Given the description of an element on the screen output the (x, y) to click on. 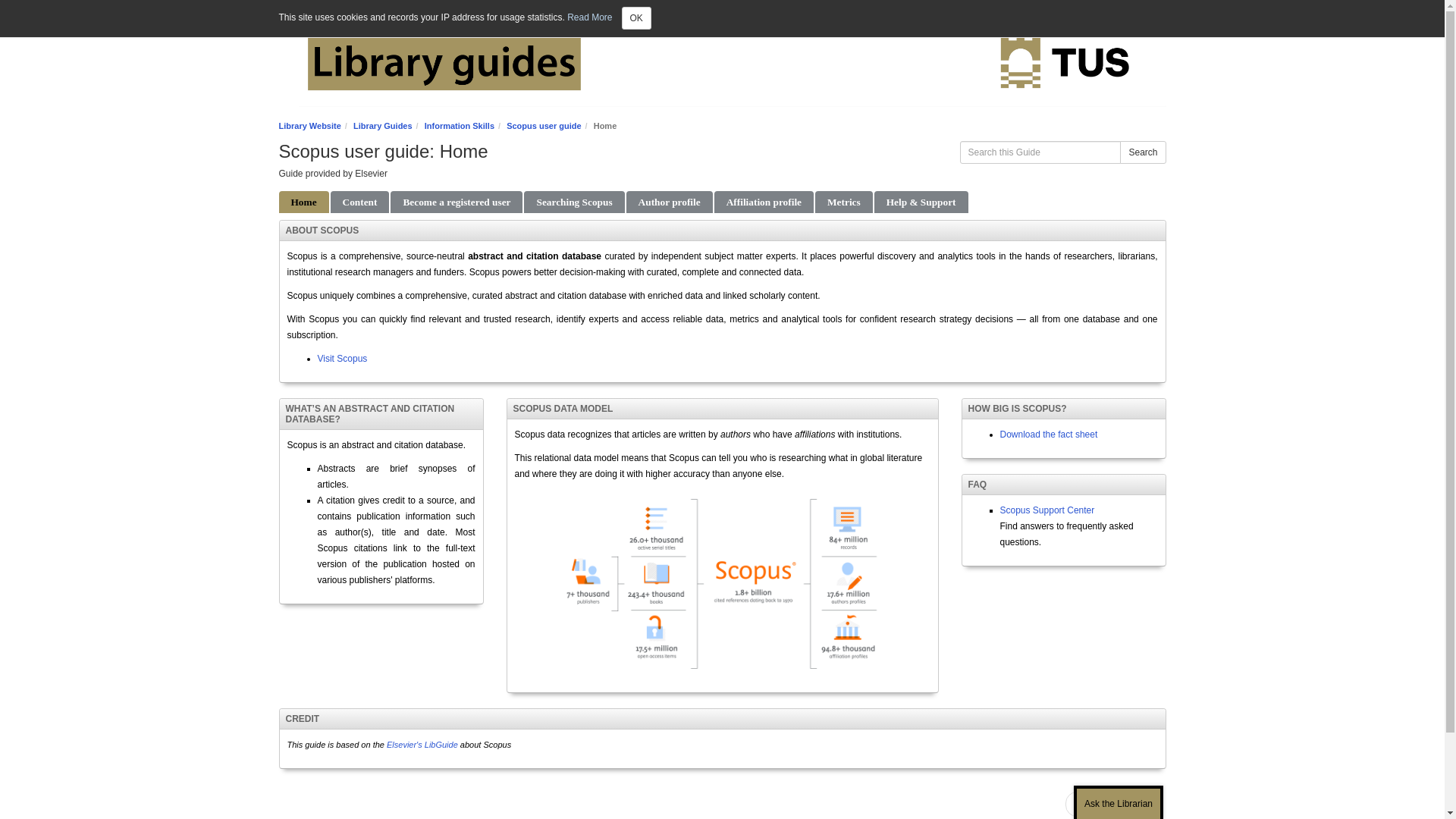
Download the fact sheet (1047, 434)
Affiliation profile (763, 201)
Library Website (309, 125)
Author profile (669, 201)
Home (304, 201)
Scopus Support Center (1046, 510)
Searching Scopus (574, 201)
Library Guides (382, 125)
OK (635, 17)
Search (1142, 151)
Become a registered user (456, 201)
Read More (589, 17)
Metrics (843, 201)
Information Skills (460, 125)
Visit Scopus (341, 357)
